Given the description of an element on the screen output the (x, y) to click on. 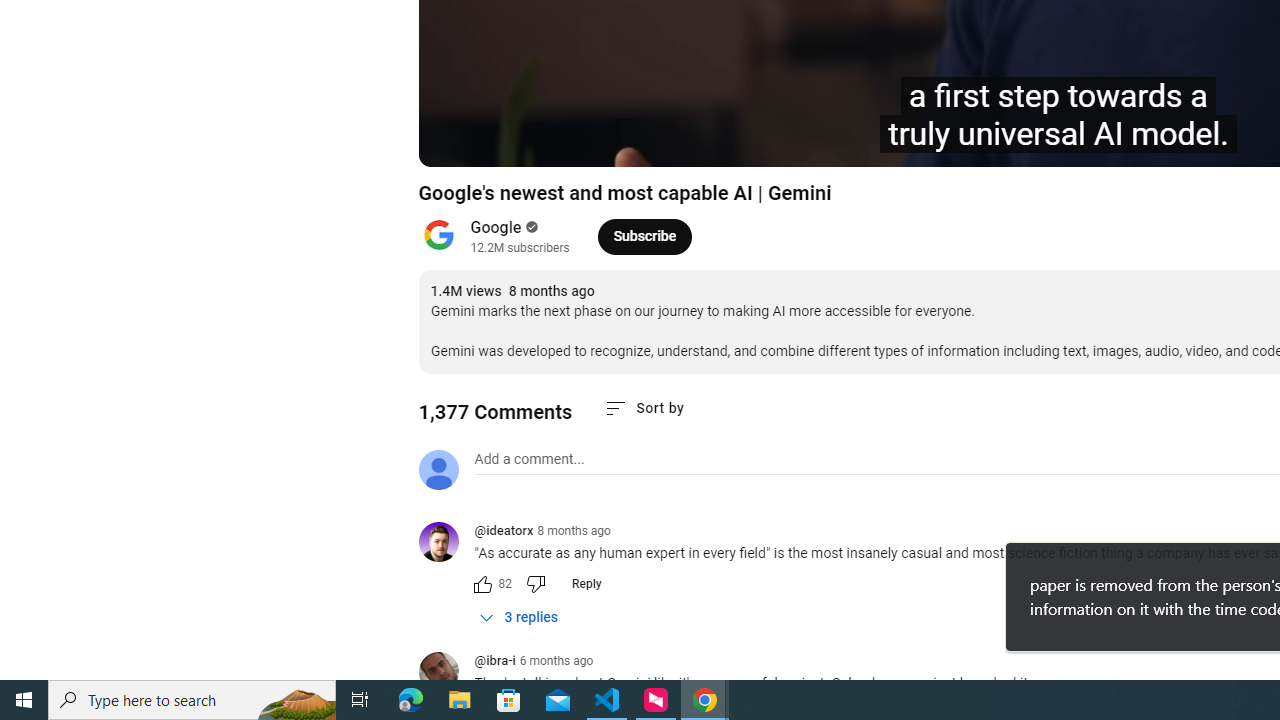
@ideatorx (503, 532)
8 months ago (573, 531)
Subscribe to Google. (644, 236)
Verified (530, 227)
3 replies (518, 617)
Play (k) (453, 142)
